Given the description of an element on the screen output the (x, y) to click on. 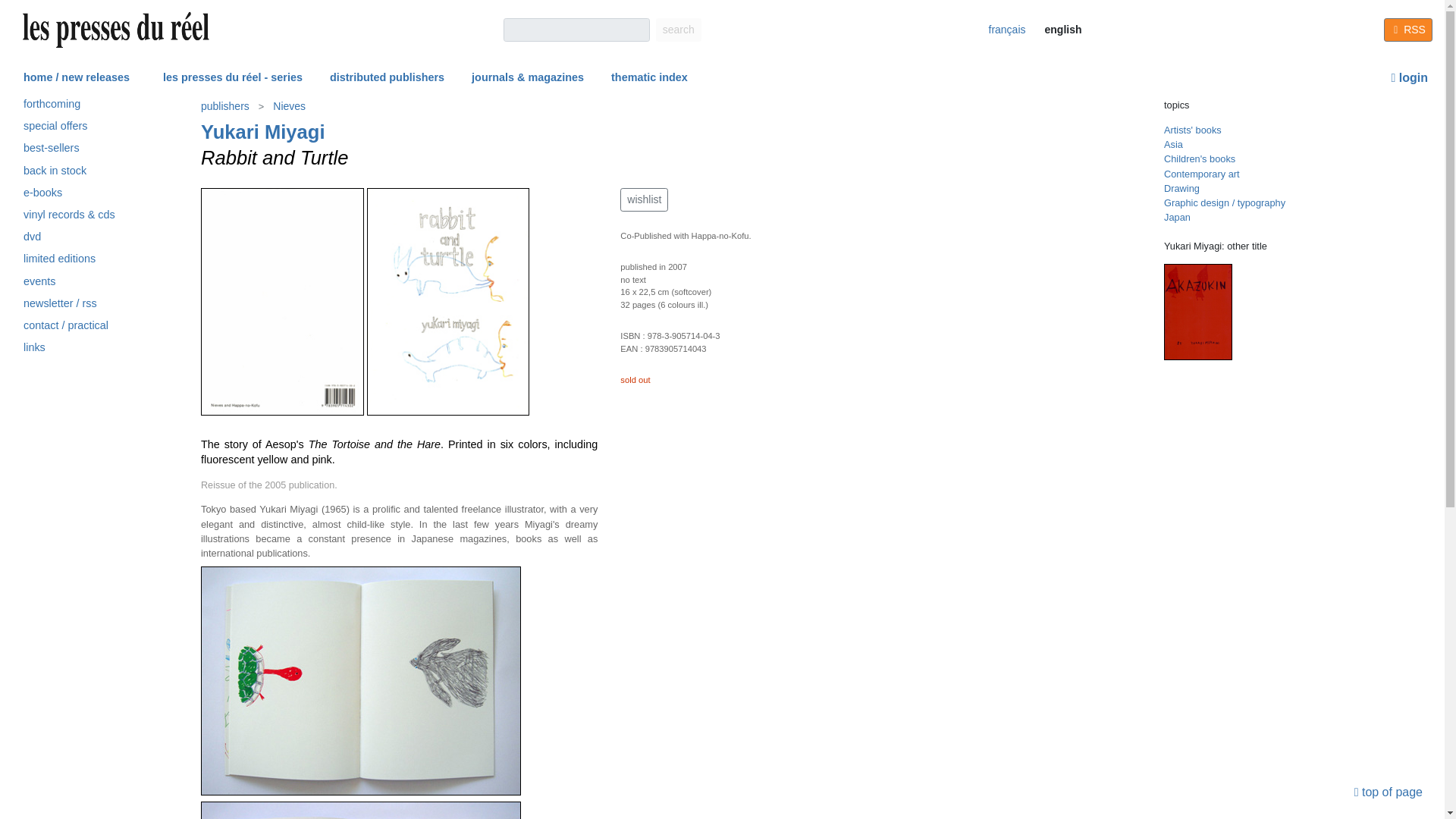
limited editions (69, 260)
links (69, 350)
Children's books (1198, 158)
Asia (1172, 143)
Nieves (288, 106)
forthcoming (69, 106)
publishers (225, 106)
list all titles (262, 131)
Artists' books (1192, 129)
thematic index (649, 77)
2 lettres minimum (576, 29)
Yukari Miyagi (262, 131)
 login (1409, 77)
Drawing (1181, 188)
best-sellers (69, 150)
